Given the description of an element on the screen output the (x, y) to click on. 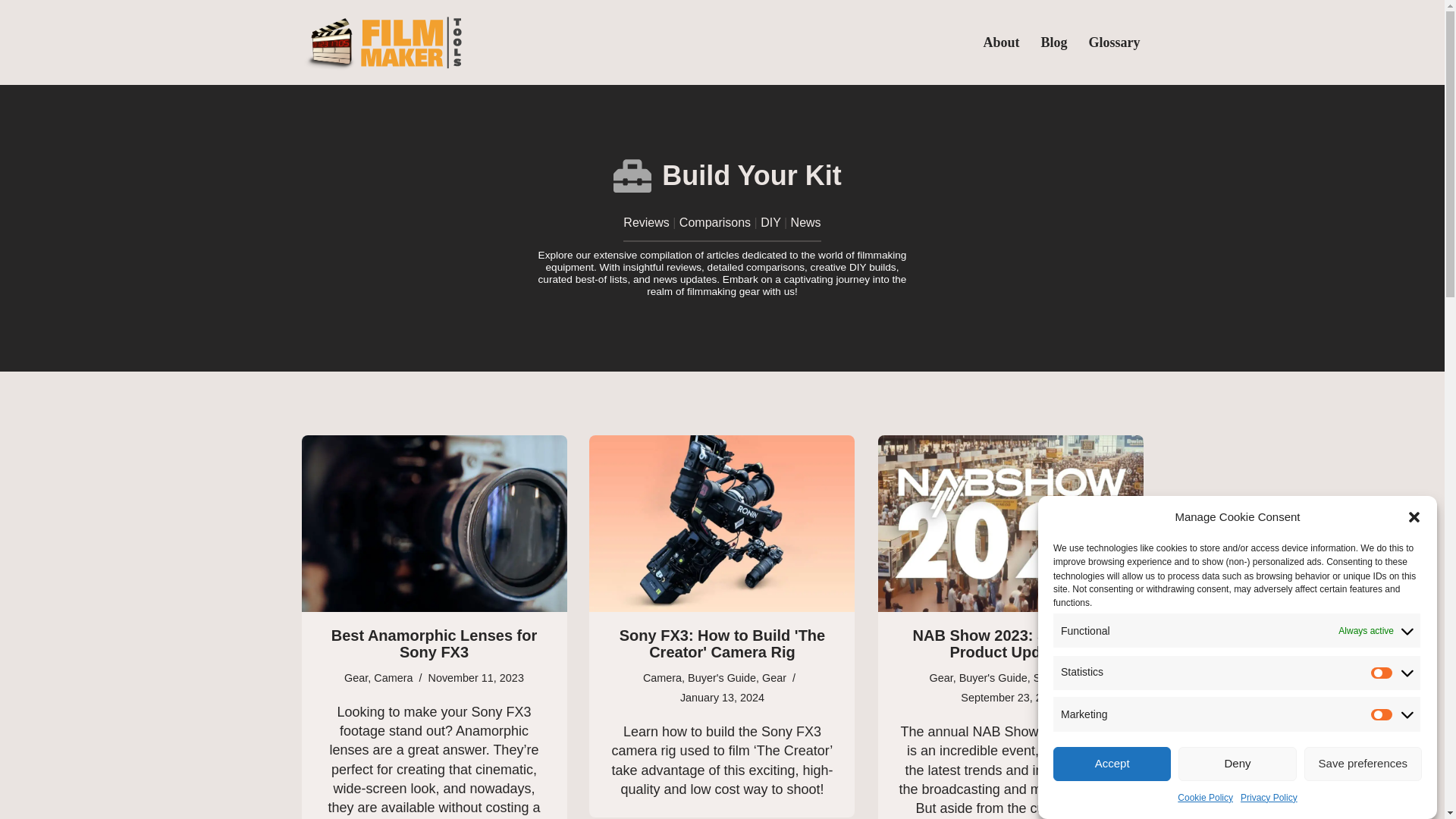
NAB Show 2023: Sales and Product Updates (1009, 522)
About (1000, 42)
Buyer's Guide (721, 677)
Best Anamorphic Lenses for Sony FX3 (434, 643)
Sony FX3: How to Build 'The Creator' Camera Rig (721, 522)
Camera (662, 677)
Camera (393, 677)
Blog (1054, 42)
Buyer's Guide (993, 677)
Sony FX3: How to Build 'The Creator' Camera Rig (722, 643)
Gear (941, 677)
Navigation Menu (1418, 18)
Skip to content (11, 31)
Gear (773, 677)
Gear (355, 677)
